Given the description of an element on the screen output the (x, y) to click on. 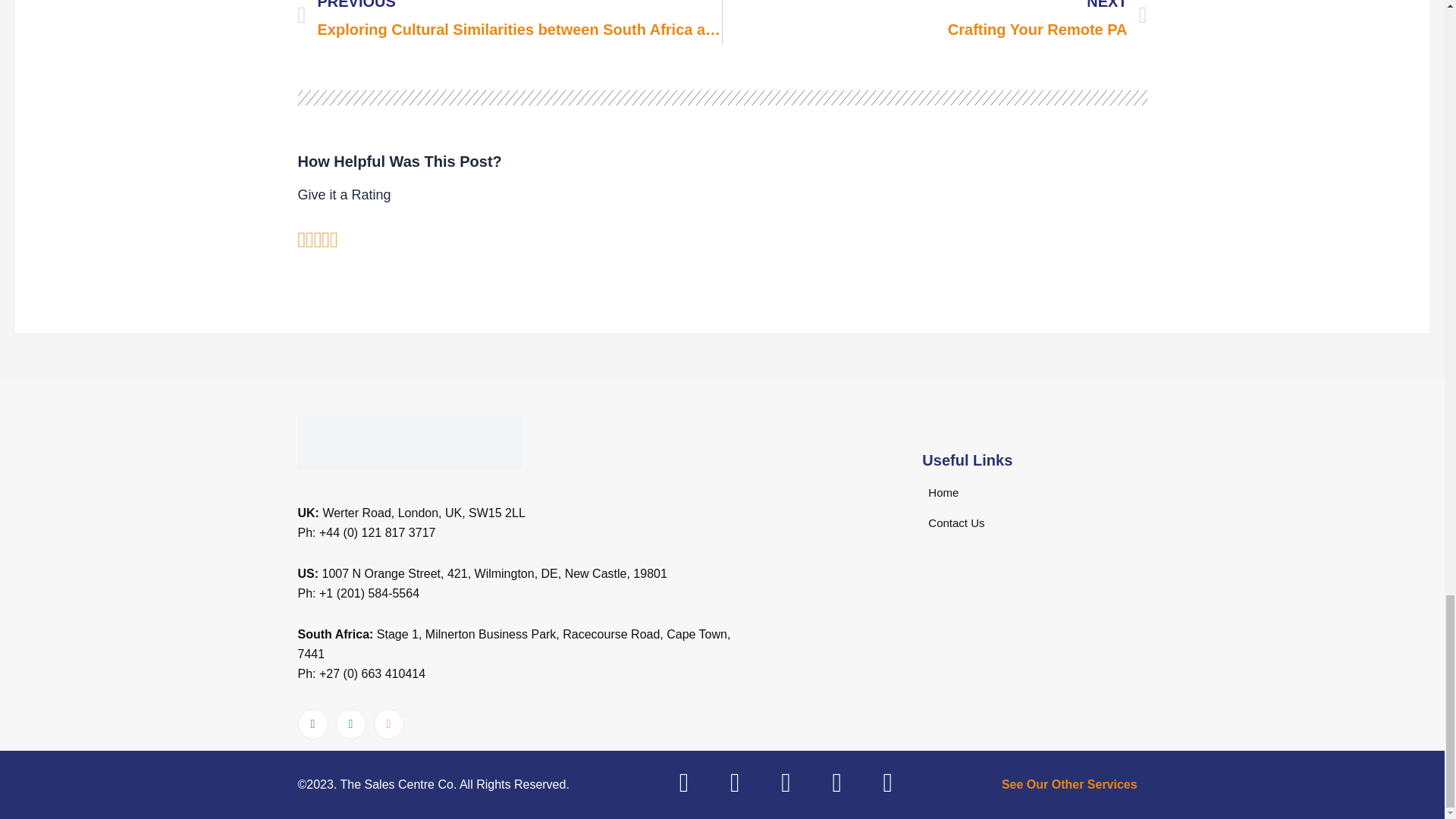
Home (934, 22)
See Our Other Services (939, 492)
Contact Us (1069, 784)
